Given the description of an element on the screen output the (x, y) to click on. 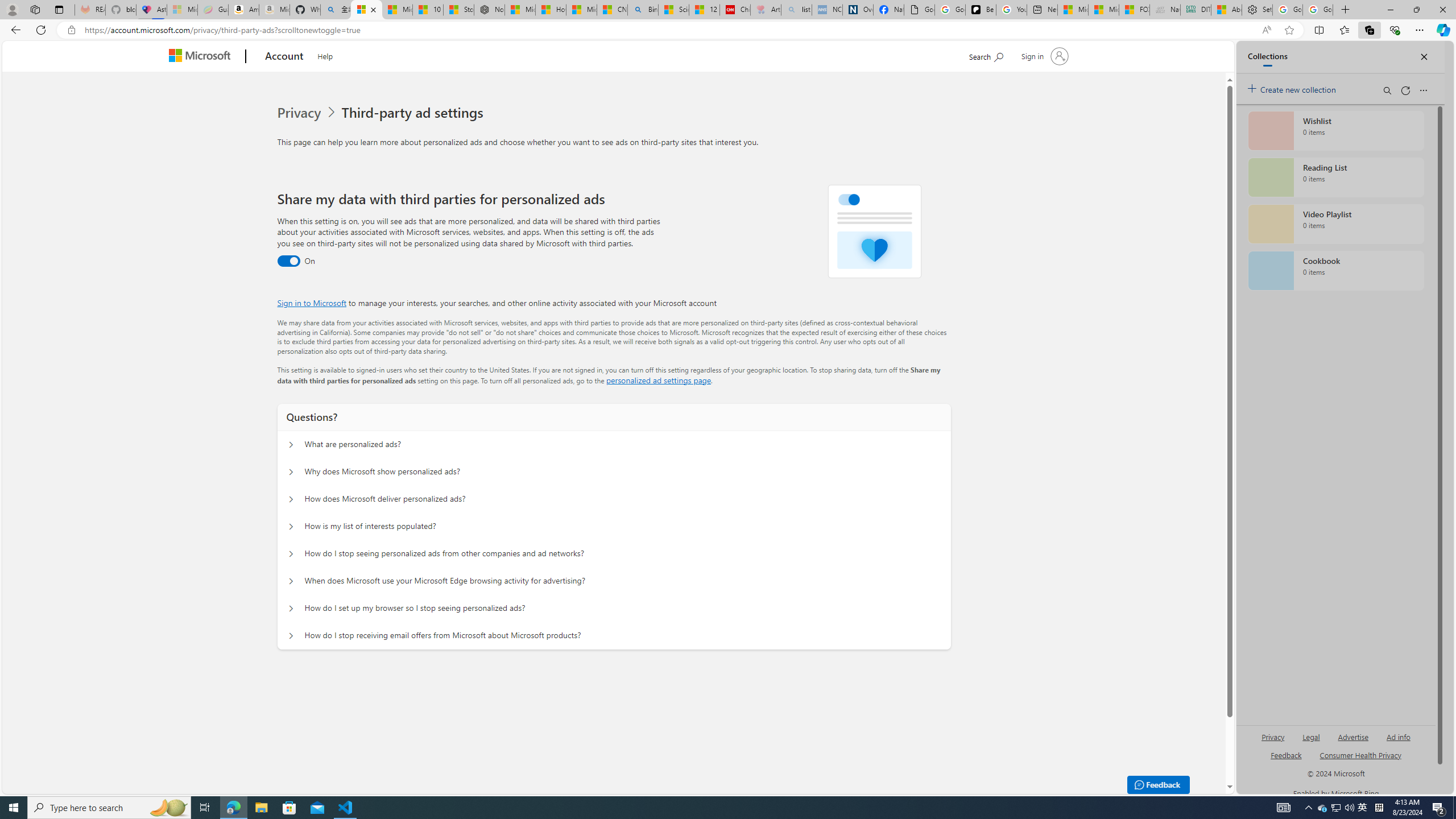
Questions? How is my list of interests populated? (290, 526)
Split screen (1318, 29)
Aberdeen, Hong Kong SAR hourly forecast | Microsoft Weather (1226, 9)
Workspaces (34, 9)
FOX News - MSN (1133, 9)
Account (283, 56)
AutomationID: genId96 (1285, 759)
Favorites (1344, 29)
list of asthma inhalers uk - Search - Sleeping (796, 9)
Read aloud this page (Ctrl+Shift+U) (1266, 29)
Microsoft account | Privacy (366, 9)
